Given the description of an element on the screen output the (x, y) to click on. 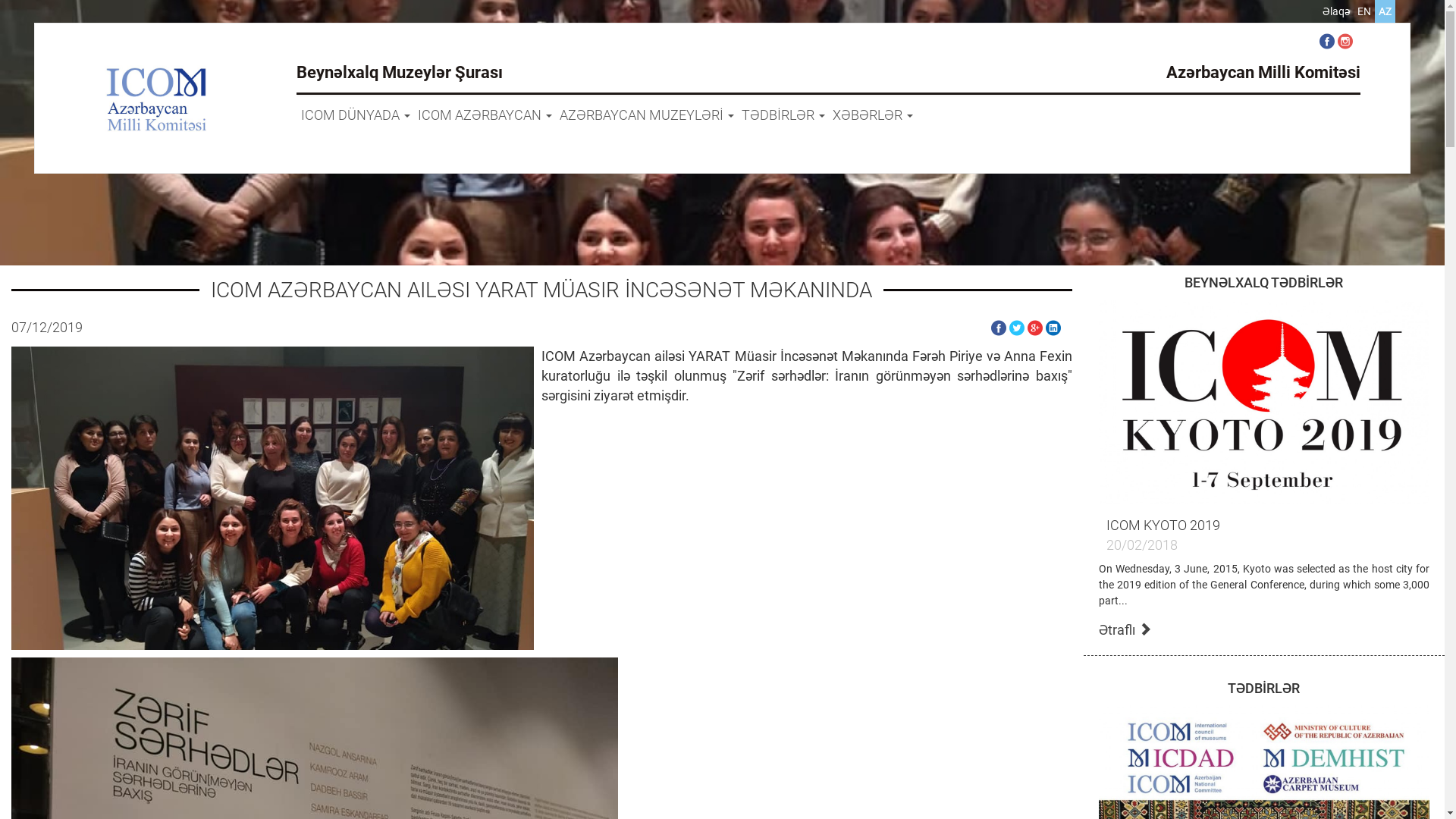
AZ Element type: text (1384, 11)
EN Element type: text (1364, 11)
